Given the description of an element on the screen output the (x, y) to click on. 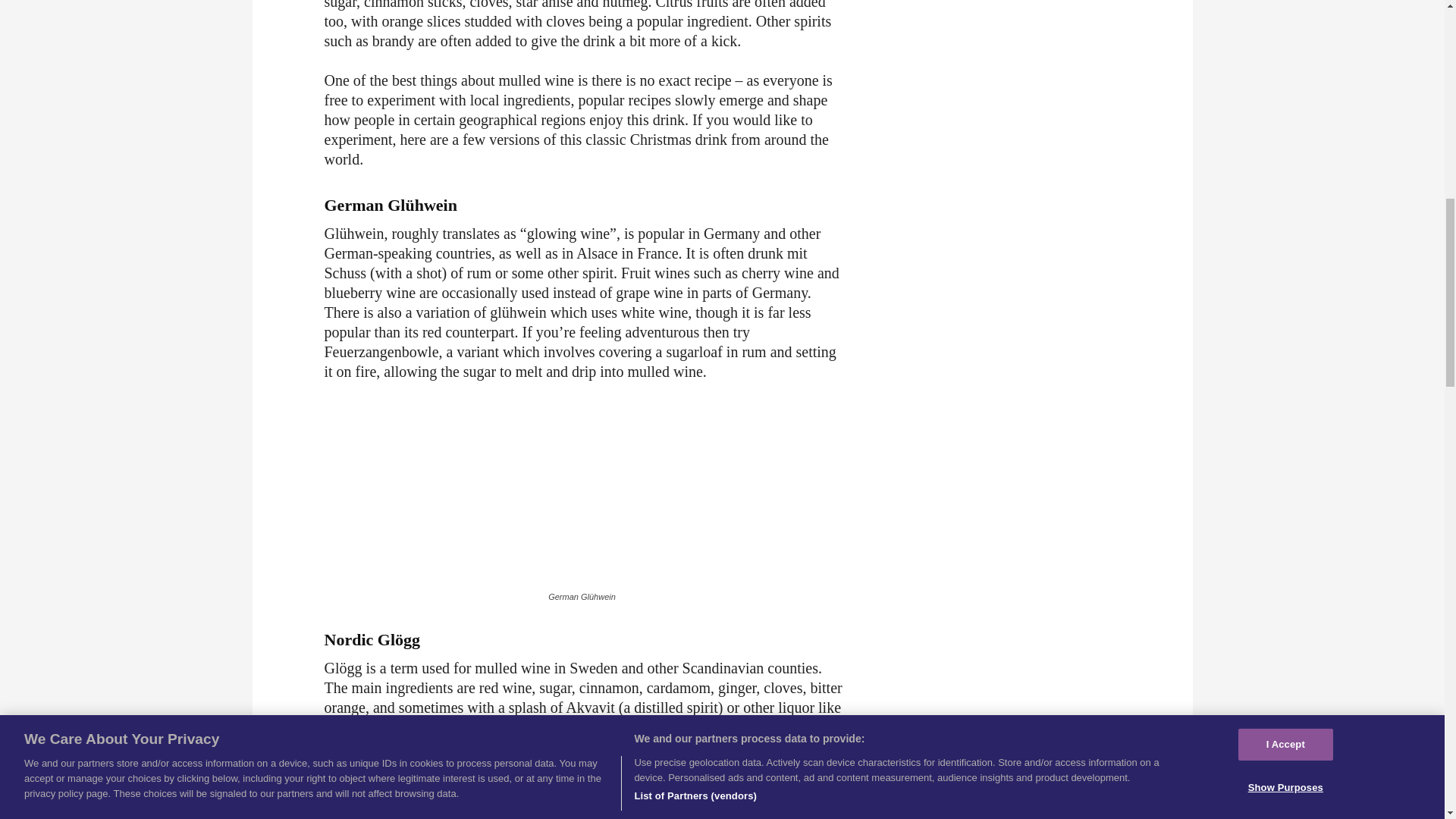
Go Top (1390, 60)
